Given the description of an element on the screen output the (x, y) to click on. 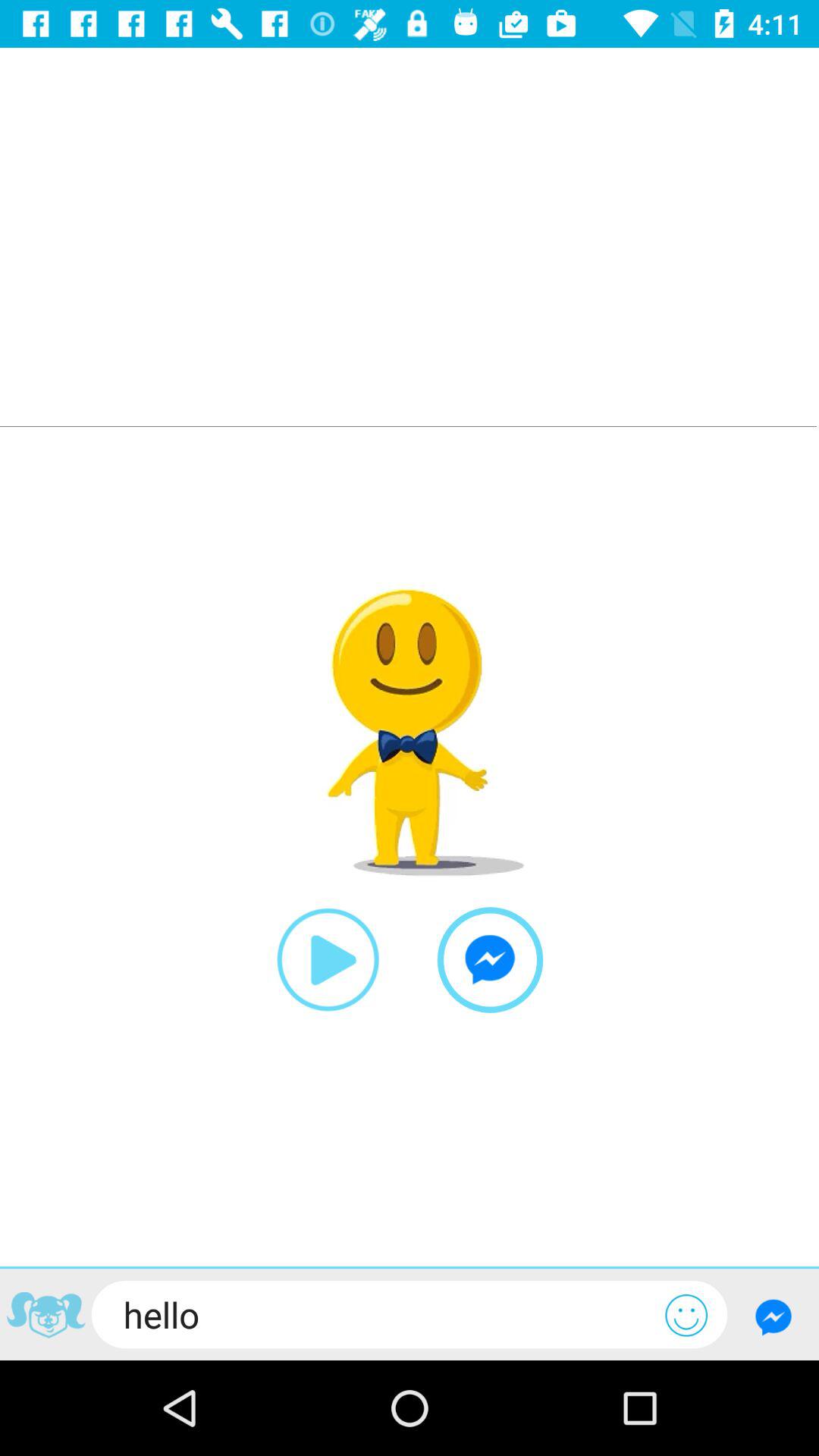
facebook messenger button (773, 1316)
